Given the description of an element on the screen output the (x, y) to click on. 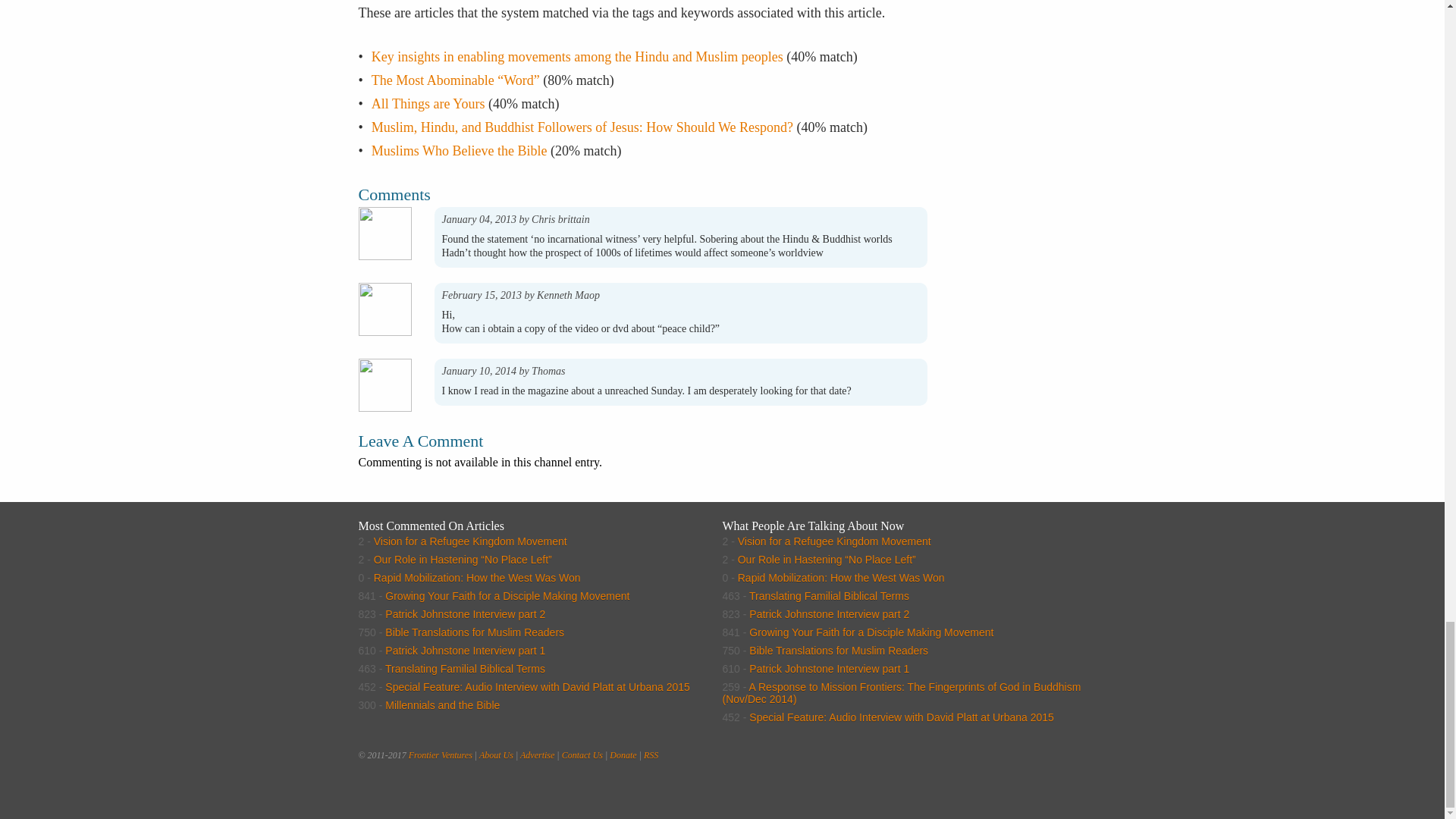
Muslims Who Believe the Bible (459, 150)
All Things are Yours (427, 103)
